Given the description of an element on the screen output the (x, y) to click on. 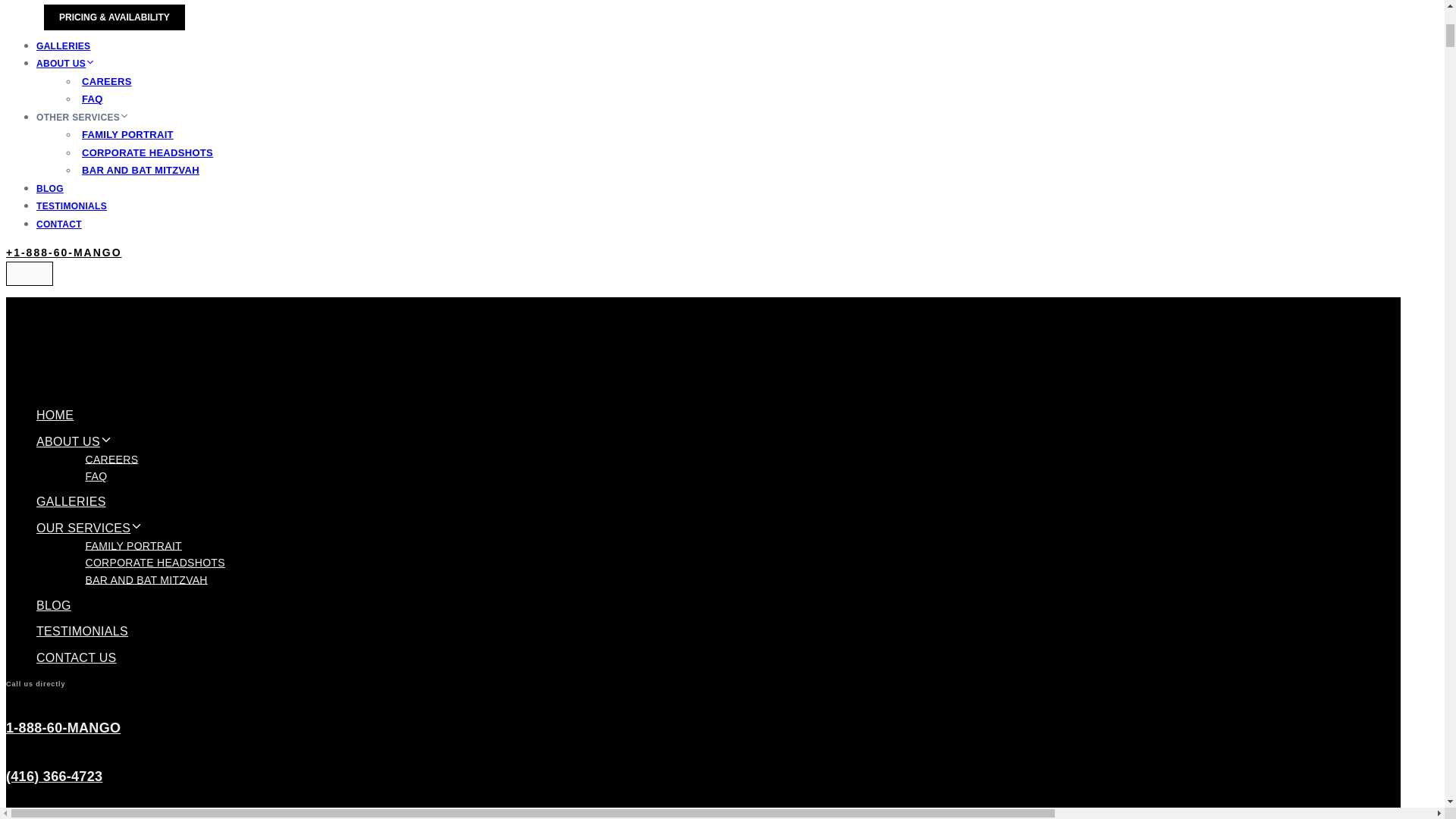
TESTIMONIALS (71, 205)
FAQ (95, 475)
OTHER SERVICES (84, 117)
FAQ (92, 98)
CAREERS (111, 458)
CORPORATE HEADSHOTS (147, 152)
GALLERIES (63, 45)
ABOUT US (67, 63)
CONTACT (58, 224)
FAMILY PORTRAIT (127, 134)
